Given the description of an element on the screen output the (x, y) to click on. 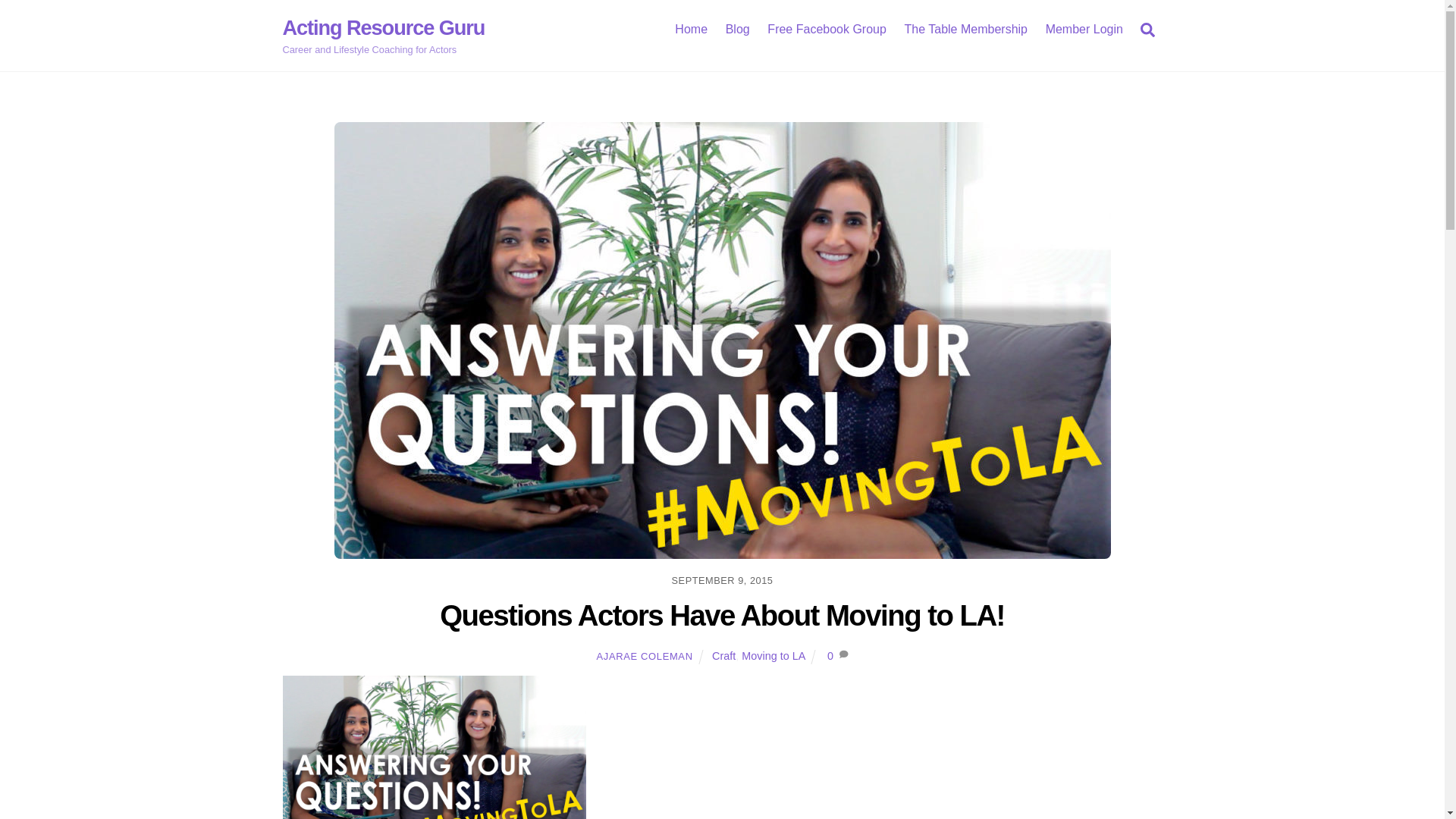
The Table Membership (965, 29)
Home (691, 29)
Moving to LA (773, 655)
Member Login (1083, 29)
Acting Resource Guru (383, 27)
AJARAE COLEMAN (644, 655)
Questions Actors Have About Moving to LA! (721, 614)
Acting Resource Guru (383, 27)
Search (1146, 29)
Craft (723, 655)
Blog (737, 29)
Free Facebook Group (826, 29)
